Given the description of an element on the screen output the (x, y) to click on. 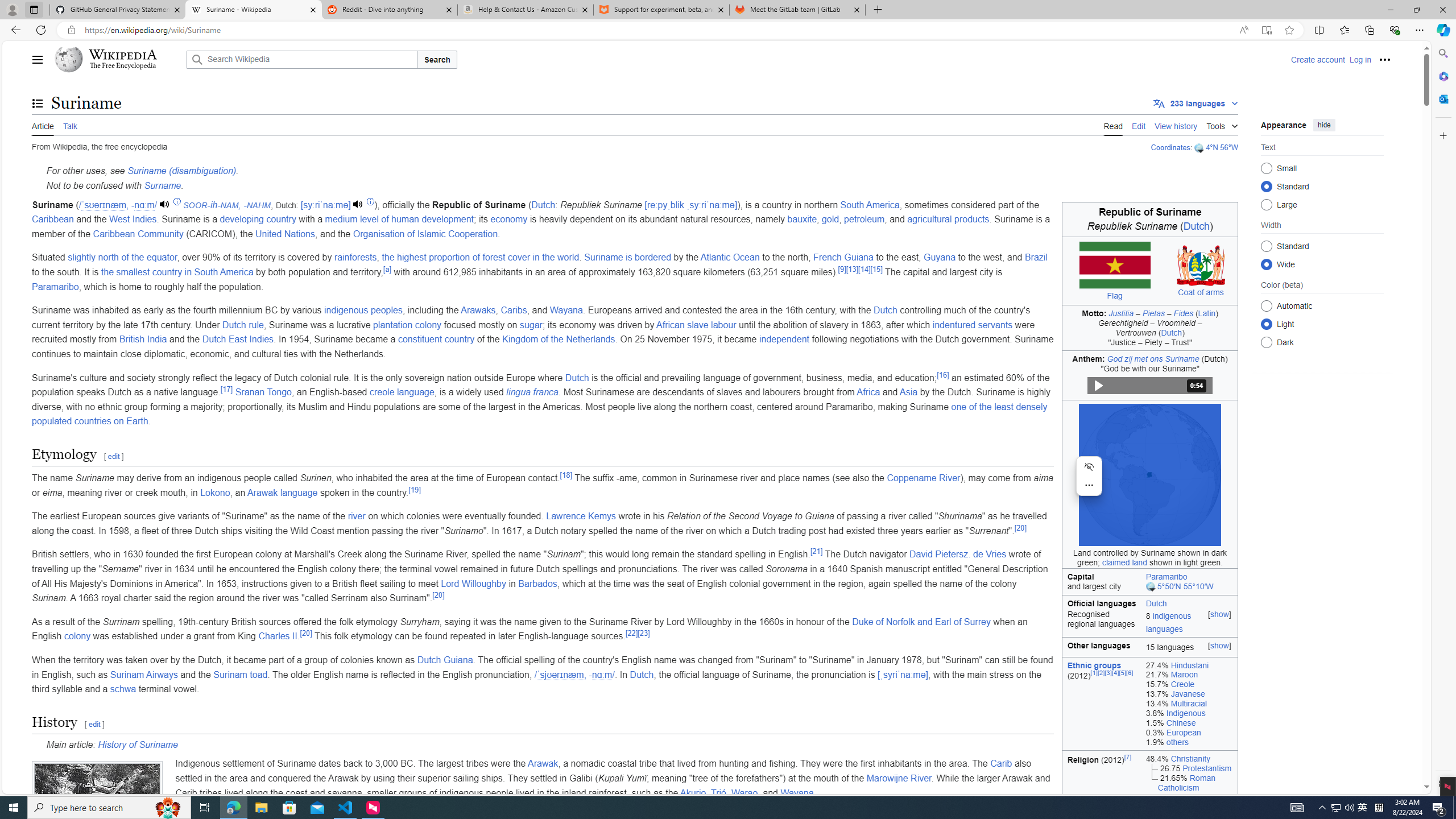
13.4% Multiracial (1189, 703)
0.3% European (1189, 732)
agricultural products (948, 219)
petroleum (864, 219)
plantation colony (407, 324)
claimed land (1124, 561)
Akurio (692, 792)
one of the least densely populated countries on Earth (540, 413)
[22] (630, 632)
Show location on an interactive map (1151, 586)
Guyana (939, 257)
Lawrence Kemys (580, 516)
Duke of Norfolk and Earl of Surrey (920, 621)
